Given the description of an element on the screen output the (x, y) to click on. 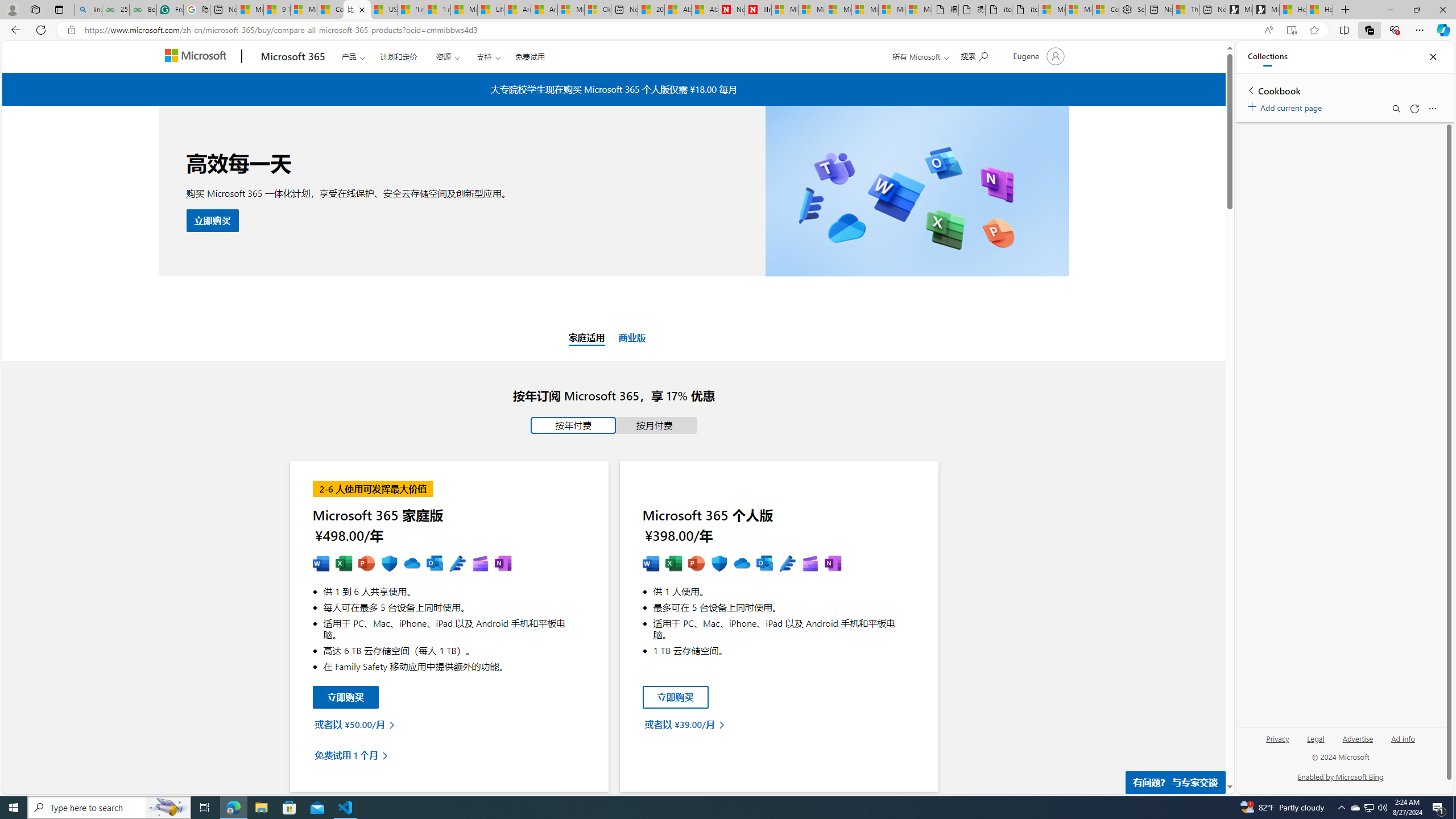
Back to list of collections (1250, 90)
MS Editor (787, 563)
MS OneNote (832, 563)
USA TODAY - MSN (383, 9)
Illness news & latest pictures from Newsweek.com (757, 9)
